Given the description of an element on the screen output the (x, y) to click on. 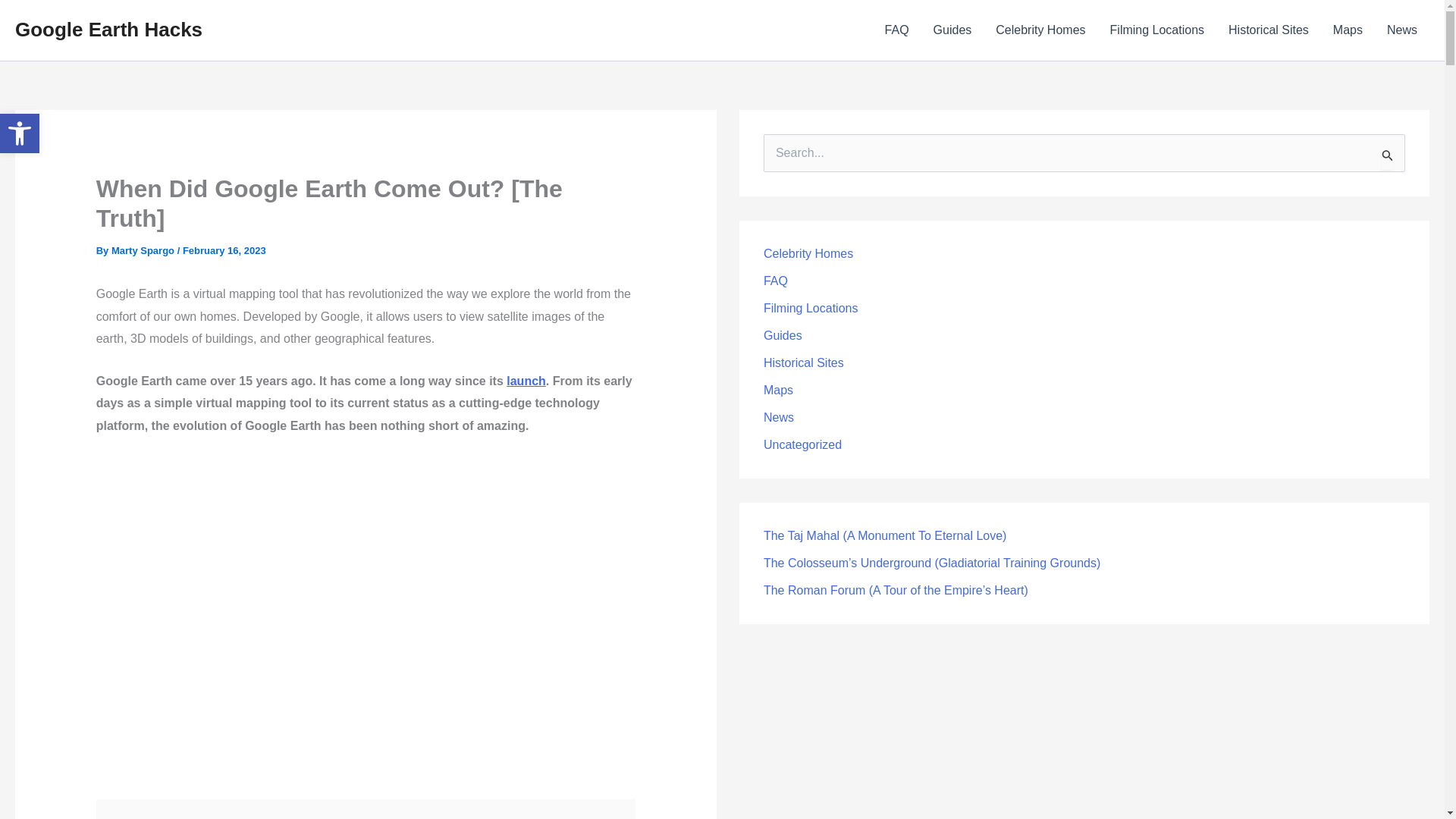
News (1401, 30)
View all posts by Marty Spargo (19, 133)
Accessibility Tools (144, 250)
launch (19, 133)
Marty Spargo (526, 380)
Guides (144, 250)
Historical Sites (952, 30)
Filming Locations (1267, 30)
Celebrity Homes (1157, 30)
Google Earth Hacks (1040, 30)
Accessibility Tools (108, 29)
